Given the description of an element on the screen output the (x, y) to click on. 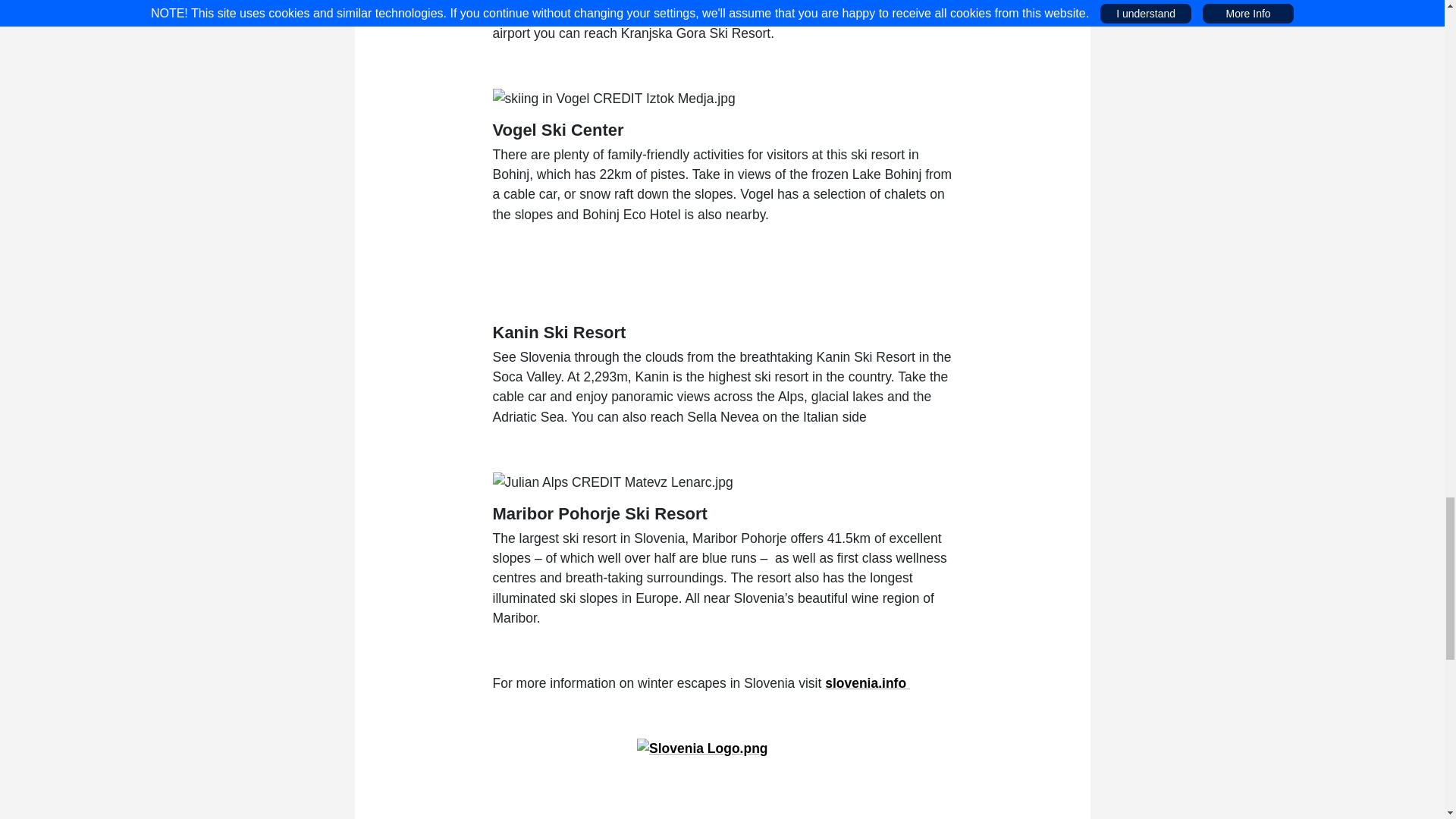
slovenia.info  (867, 683)
